Given the description of an element on the screen output the (x, y) to click on. 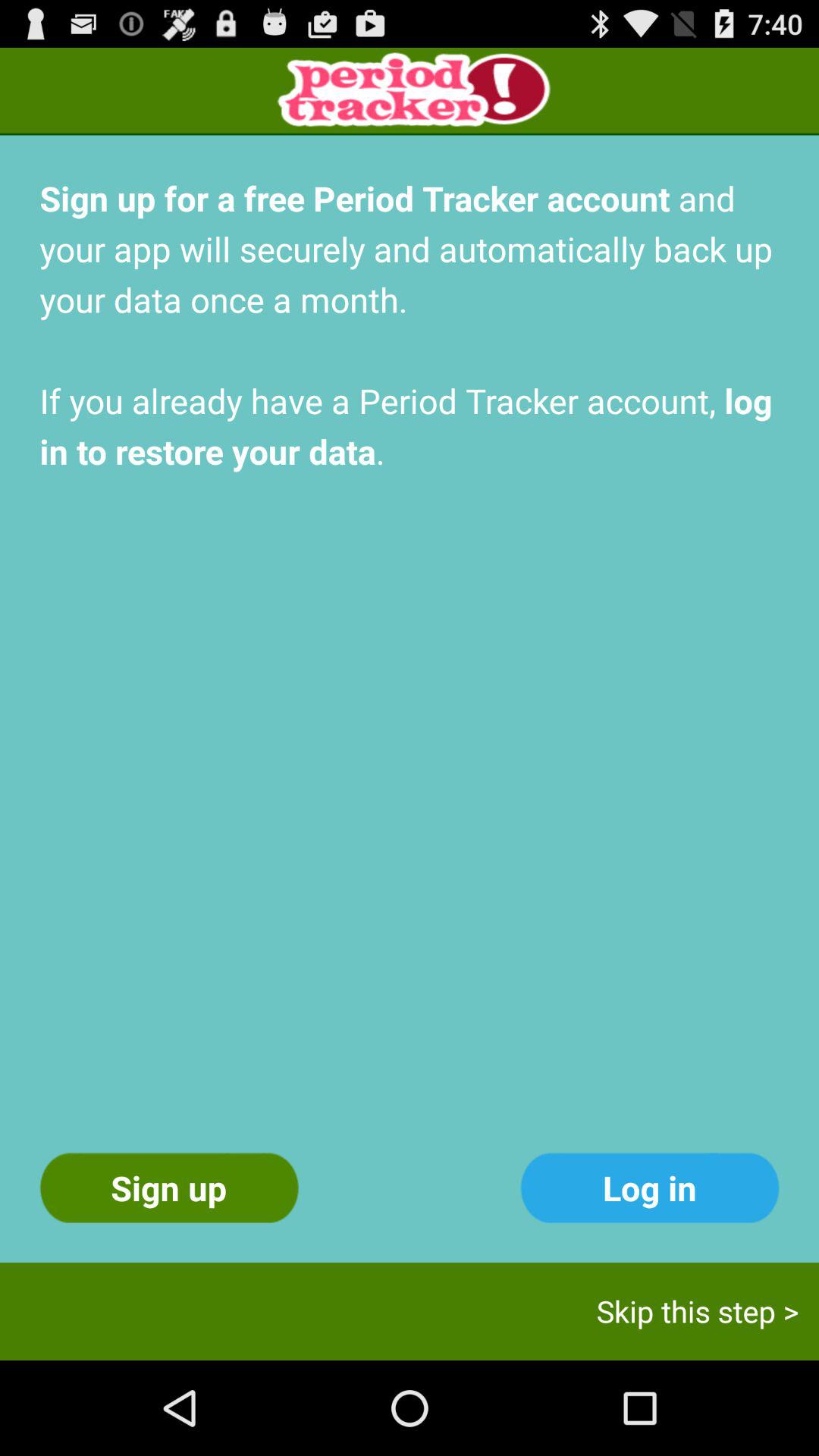
click the button to the right of sign up button (649, 1187)
